Given the description of an element on the screen output the (x, y) to click on. 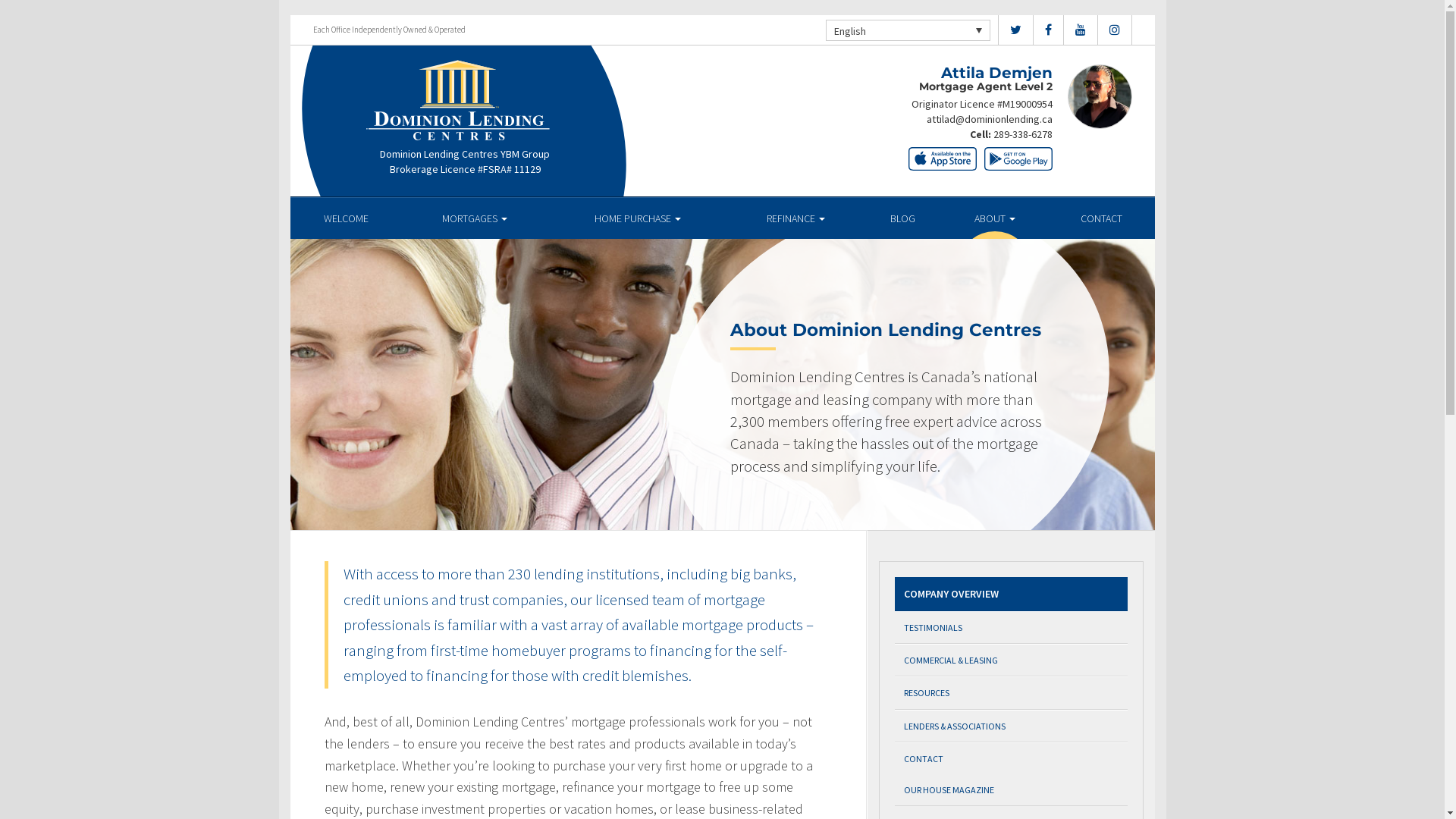
HOME PURCHASE Element type: text (637, 217)
REFINANCE Element type: text (795, 217)
WELCOME Element type: text (345, 217)
MORTGAGES Element type: text (474, 217)
BLOG Element type: text (901, 217)
LENDERS & ASSOCIATIONS Element type: text (1010, 725)
attilad@dominionlending.ca Element type: text (989, 118)
CONTACT Element type: text (1010, 758)
ABOUT Element type: text (994, 217)
CONTACT Element type: text (1101, 217)
COMPANY OVERVIEW Element type: text (1010, 594)
289-338-6278 Element type: text (1022, 134)
English Element type: text (907, 29)
COMMERCIAL & LEASING Element type: text (1010, 659)
OUR HOUSE MAGAZINE Element type: text (1010, 790)
RESOURCES Element type: text (1010, 692)
TESTIMONIALS Element type: text (1010, 627)
